Given the description of an element on the screen output the (x, y) to click on. 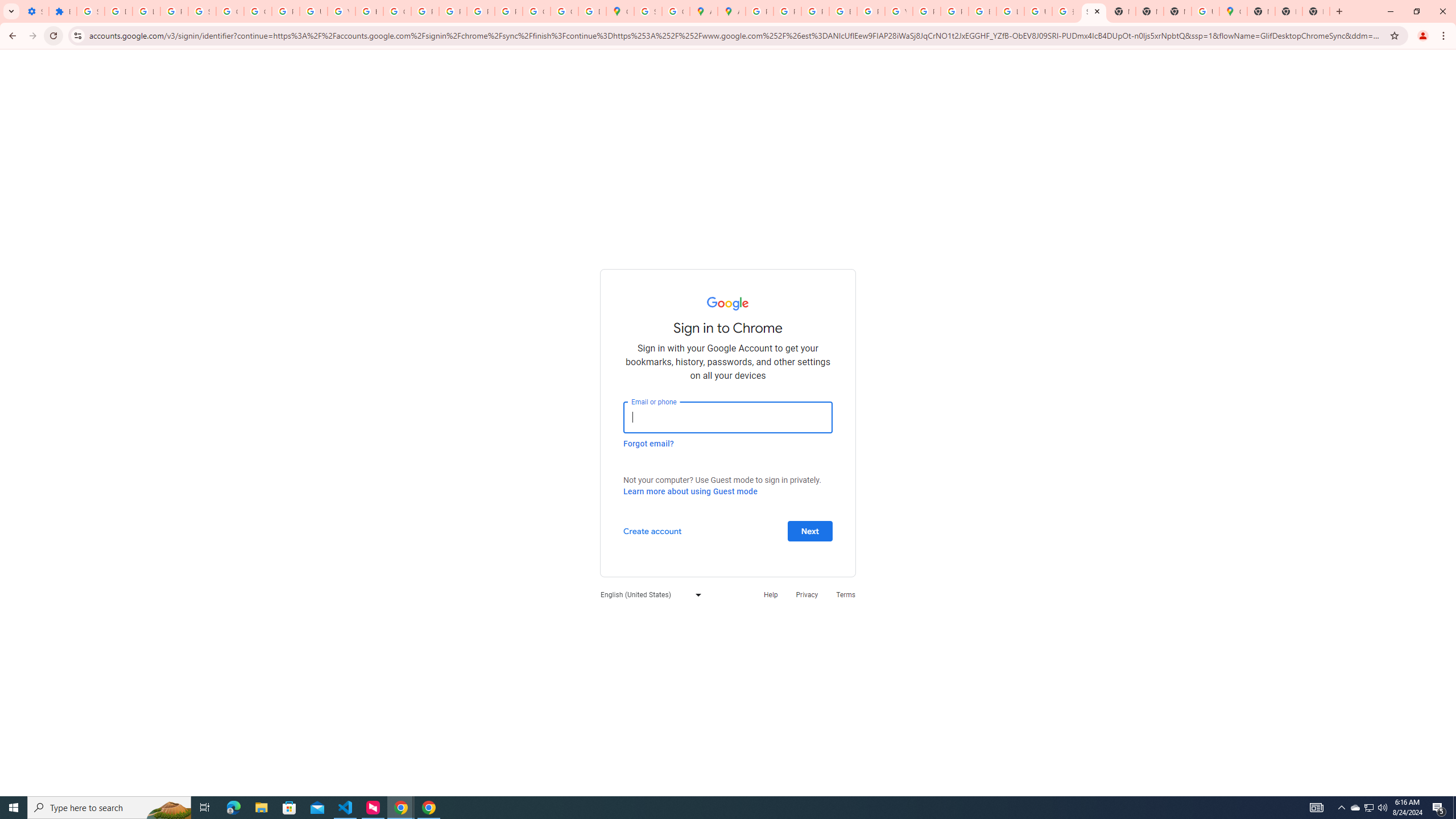
Settings - On startup (34, 11)
Create your Google Account (675, 11)
Create account (651, 530)
Sign in - Google Accounts (1093, 11)
YouTube (898, 11)
